Given the description of an element on the screen output the (x, y) to click on. 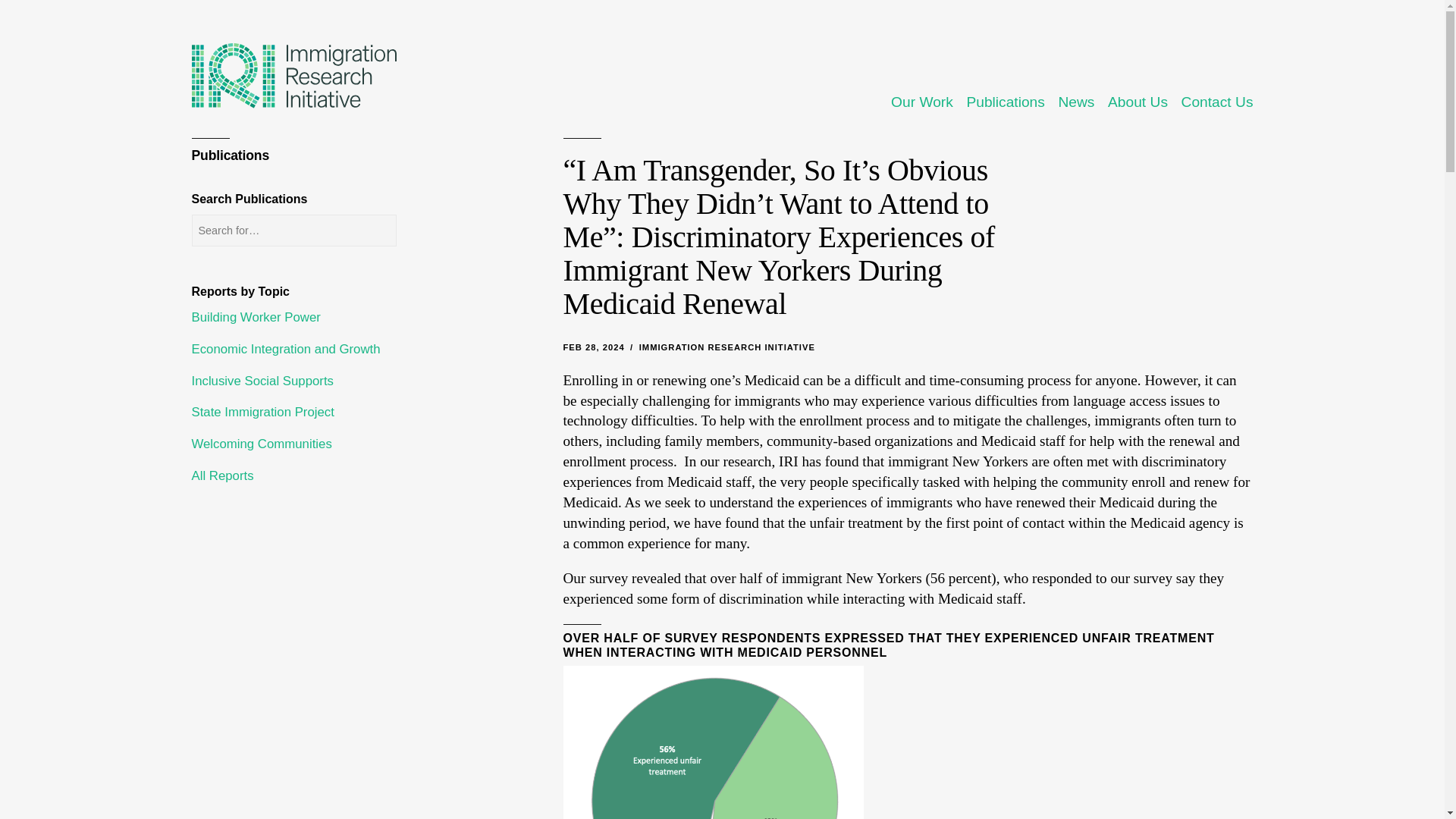
Inclusive Social Supports (365, 380)
Building Worker Power (365, 316)
Welcoming Communities (365, 444)
State Immigration Project (365, 412)
Publications (1004, 101)
Search for: (293, 230)
Economic Integration and Growth (365, 348)
Our Work (922, 101)
Contact Us (1216, 101)
Contact Us (1216, 101)
